Given the description of an element on the screen output the (x, y) to click on. 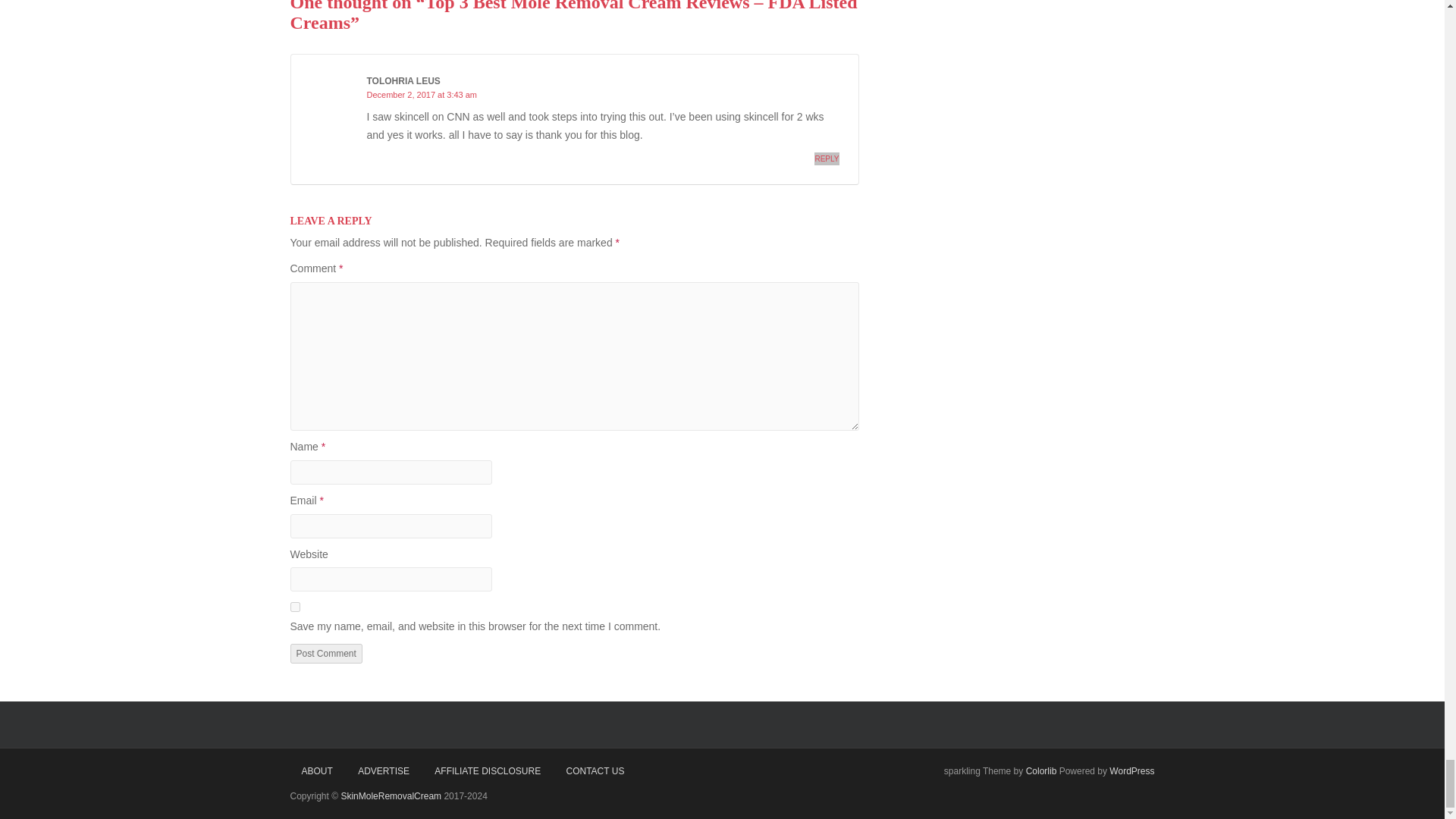
Post Comment (325, 653)
yes (294, 606)
